Given the description of an element on the screen output the (x, y) to click on. 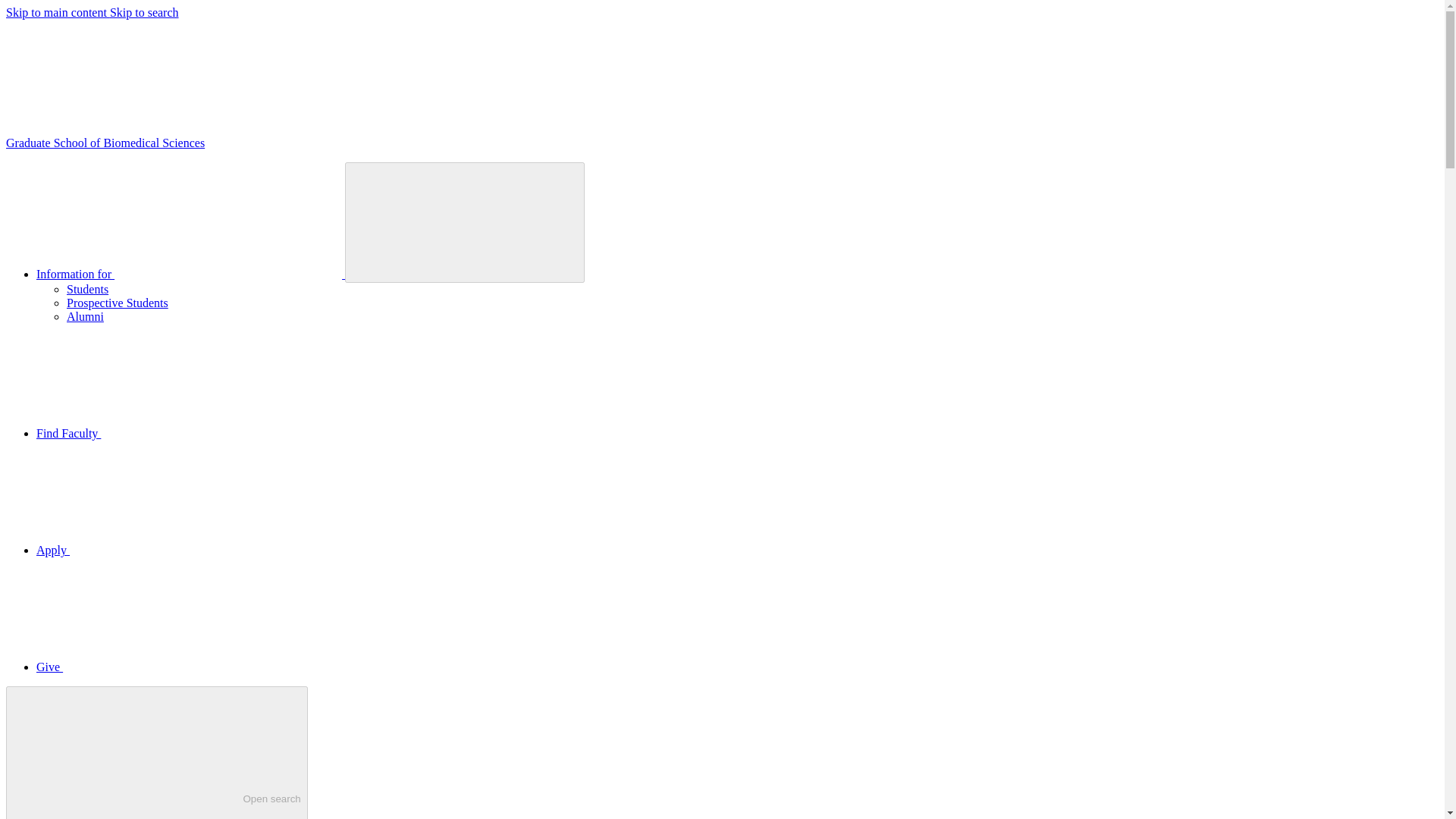
Skip to main content (57, 11)
Skip to search (144, 11)
Alumni (84, 316)
Students (86, 288)
Give (162, 666)
Information for (190, 273)
Apply (166, 549)
Prospective Students (156, 752)
Graduate School of Biomedical Sciences (117, 302)
